Given the description of an element on the screen output the (x, y) to click on. 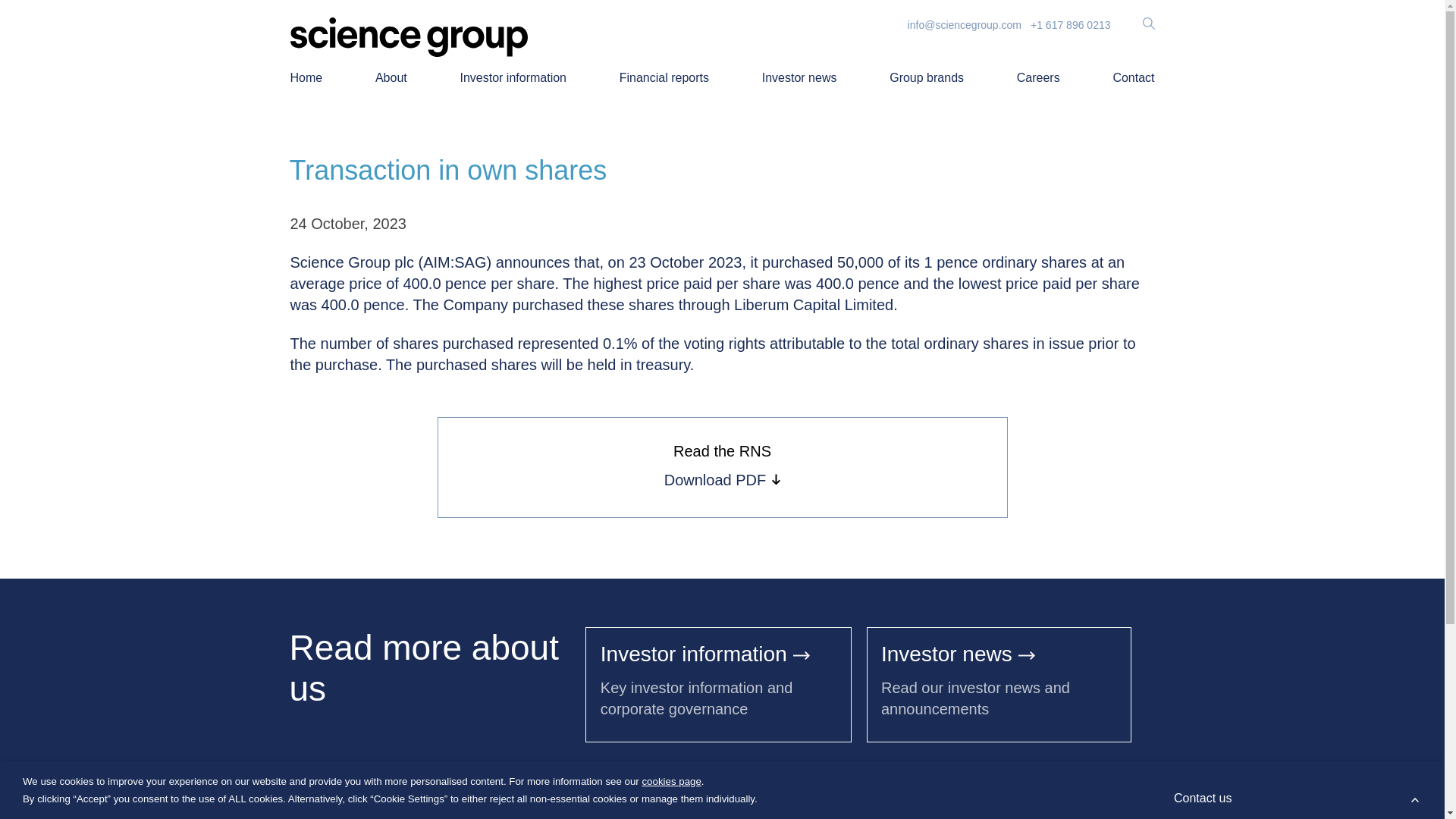
Investor news (957, 653)
About (391, 78)
Investor information (704, 653)
Group brands (926, 78)
Science Group (334, 579)
About (307, 599)
Investor information (390, 599)
Financial reports (664, 78)
Financial reports (496, 599)
Download PDF (721, 479)
Investor information (513, 78)
Investor news (799, 78)
Careers (1037, 78)
Contact (1133, 78)
Home (305, 78)
